Given the description of an element on the screen output the (x, y) to click on. 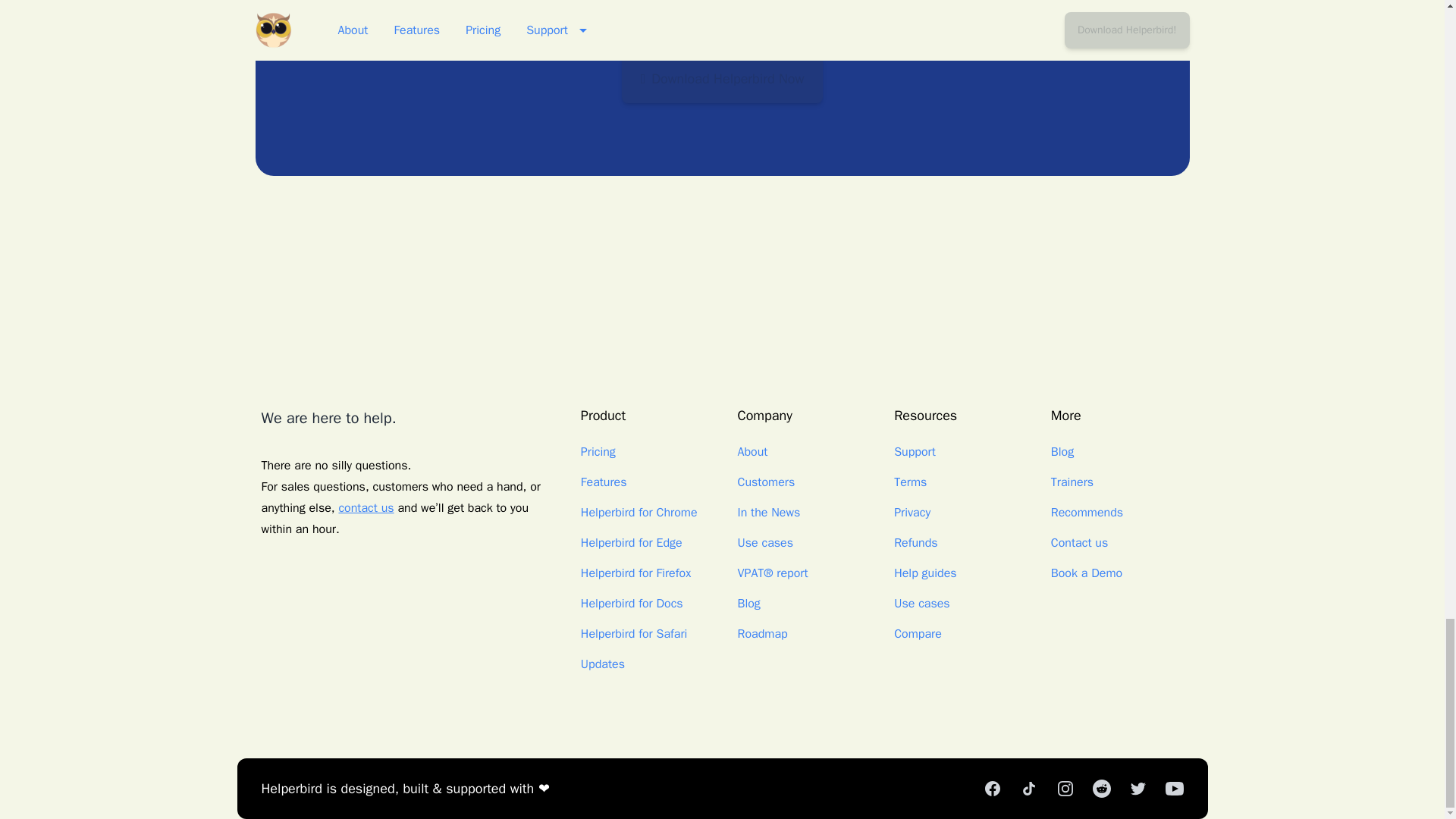
View the pricing plans for Helperbird (597, 451)
Helperbird for Safari (633, 633)
Privacy (911, 512)
In the News (767, 512)
Terms (909, 482)
Customers (765, 482)
Blog (748, 603)
Get in touch with the Helperbird team (365, 507)
Helperbird for Firefox (635, 572)
Learn more about Helperbird's Firefox extension (635, 572)
Roadmap (761, 633)
Features (603, 482)
Learn more about Helperbird's Edge extension (631, 542)
Pricing (597, 451)
Updates (602, 663)
